Given the description of an element on the screen output the (x, y) to click on. 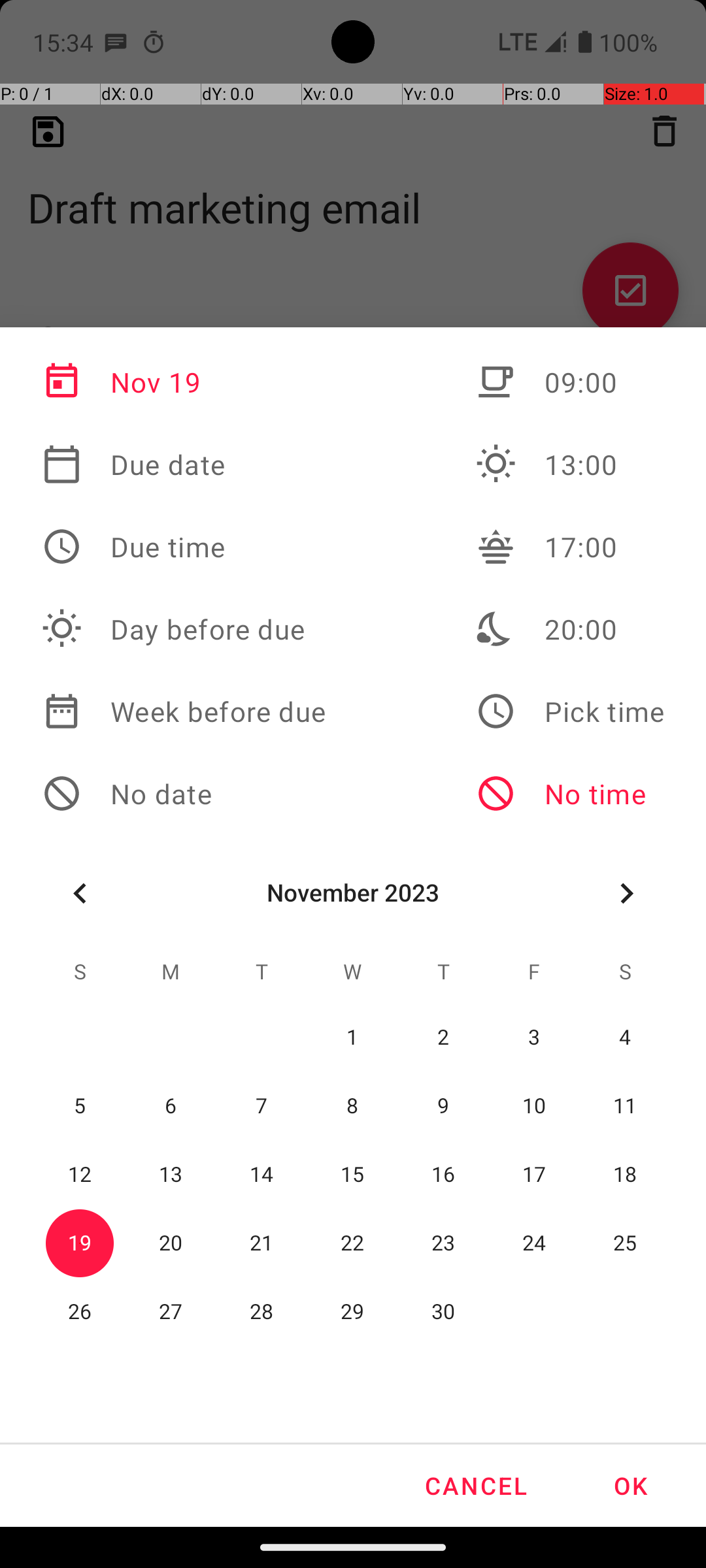
Nov 19 Element type: android.widget.CompoundButton (183, 382)
